Given the description of an element on the screen output the (x, y) to click on. 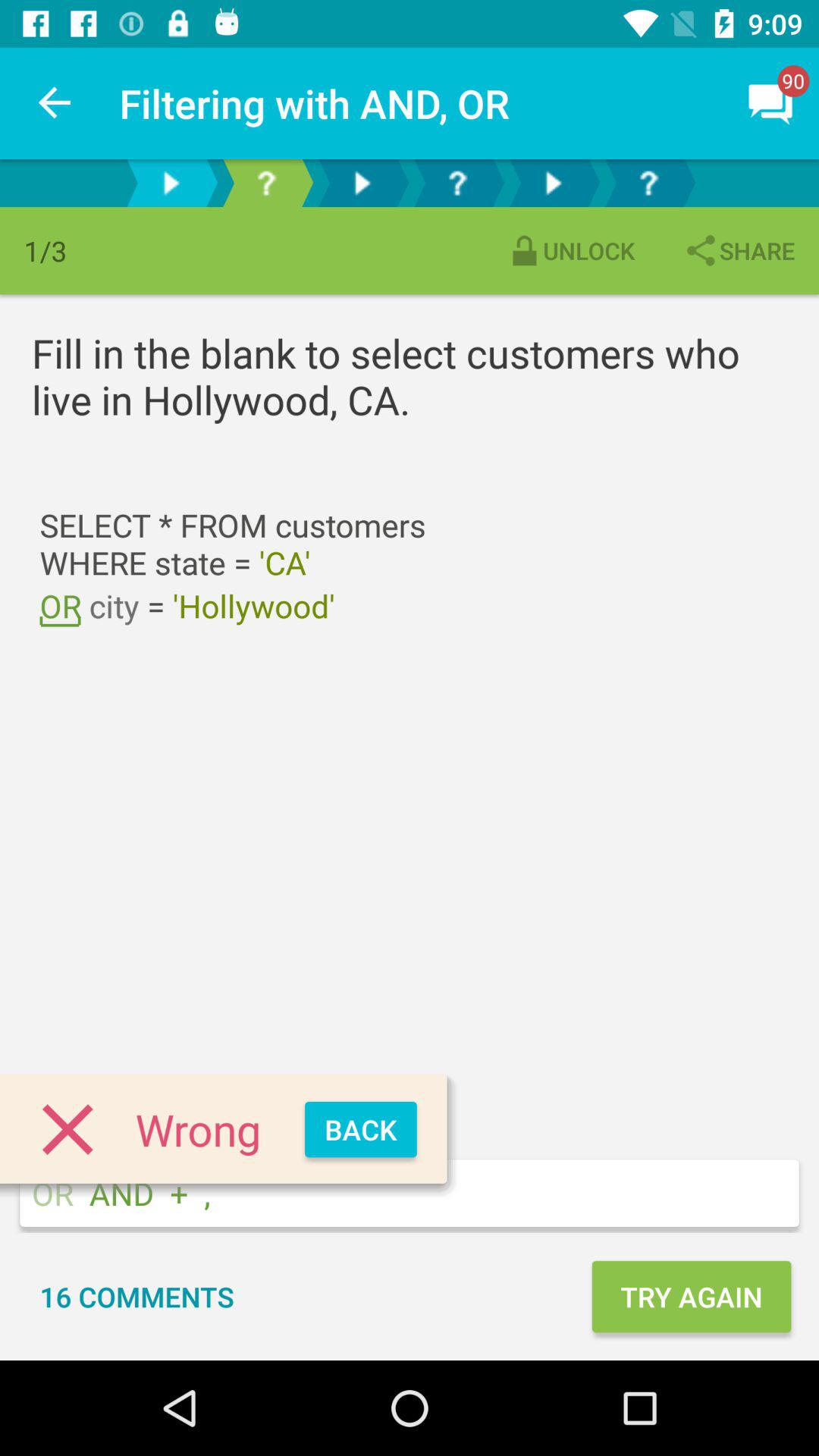
skip to 5th item (552, 183)
